Given the description of an element on the screen output the (x, y) to click on. 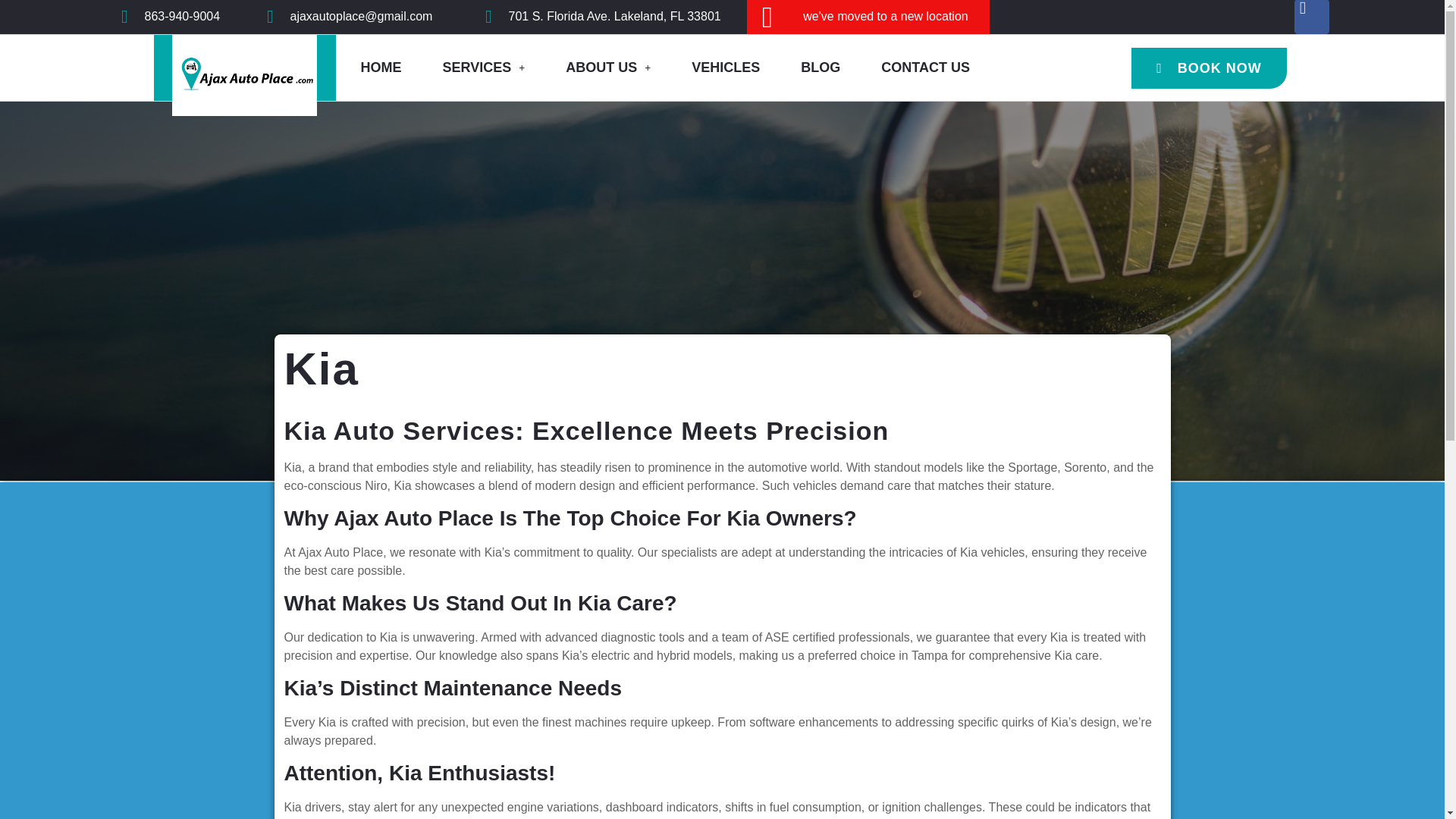
HOME (381, 67)
CONTACT US (925, 67)
VEHICLES (725, 67)
863-940-9004 (181, 15)
BLOG (820, 67)
SERVICES (483, 67)
BOOK NOW (1209, 66)
ABOUT US (608, 67)
